Given the description of an element on the screen output the (x, y) to click on. 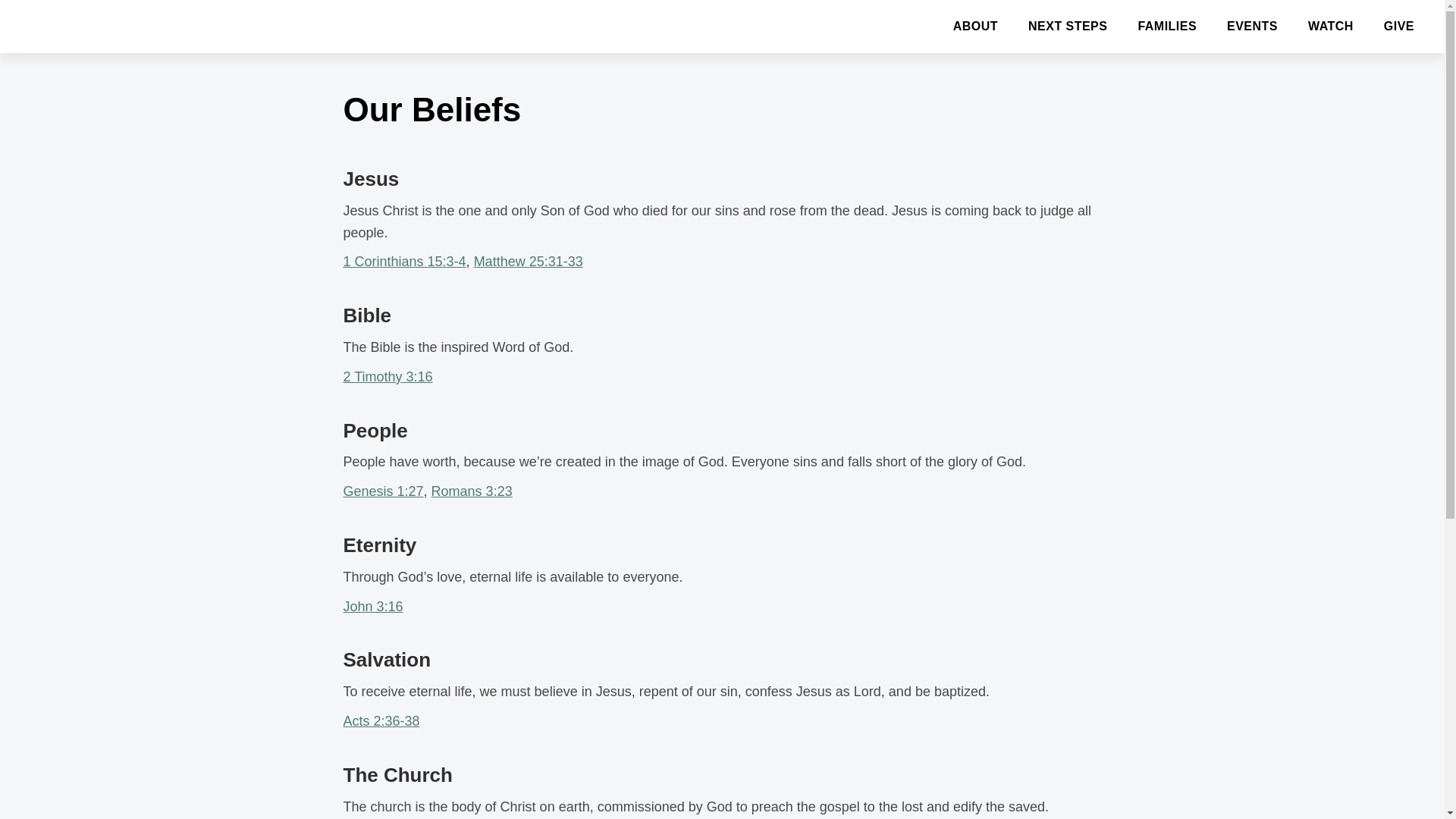
Romans 3:23 (471, 491)
2 Timothy 3:16 (387, 376)
1 Corinthians 15:3-4 (403, 261)
WATCH (1330, 25)
EVENTS (1251, 25)
NEXT STEPS (1067, 25)
Matthew 25:31-33 (528, 261)
GIVE (1398, 25)
ABOUT (975, 25)
Genesis 1:27 (382, 491)
FAMILIES (1166, 25)
